Given the description of an element on the screen output the (x, y) to click on. 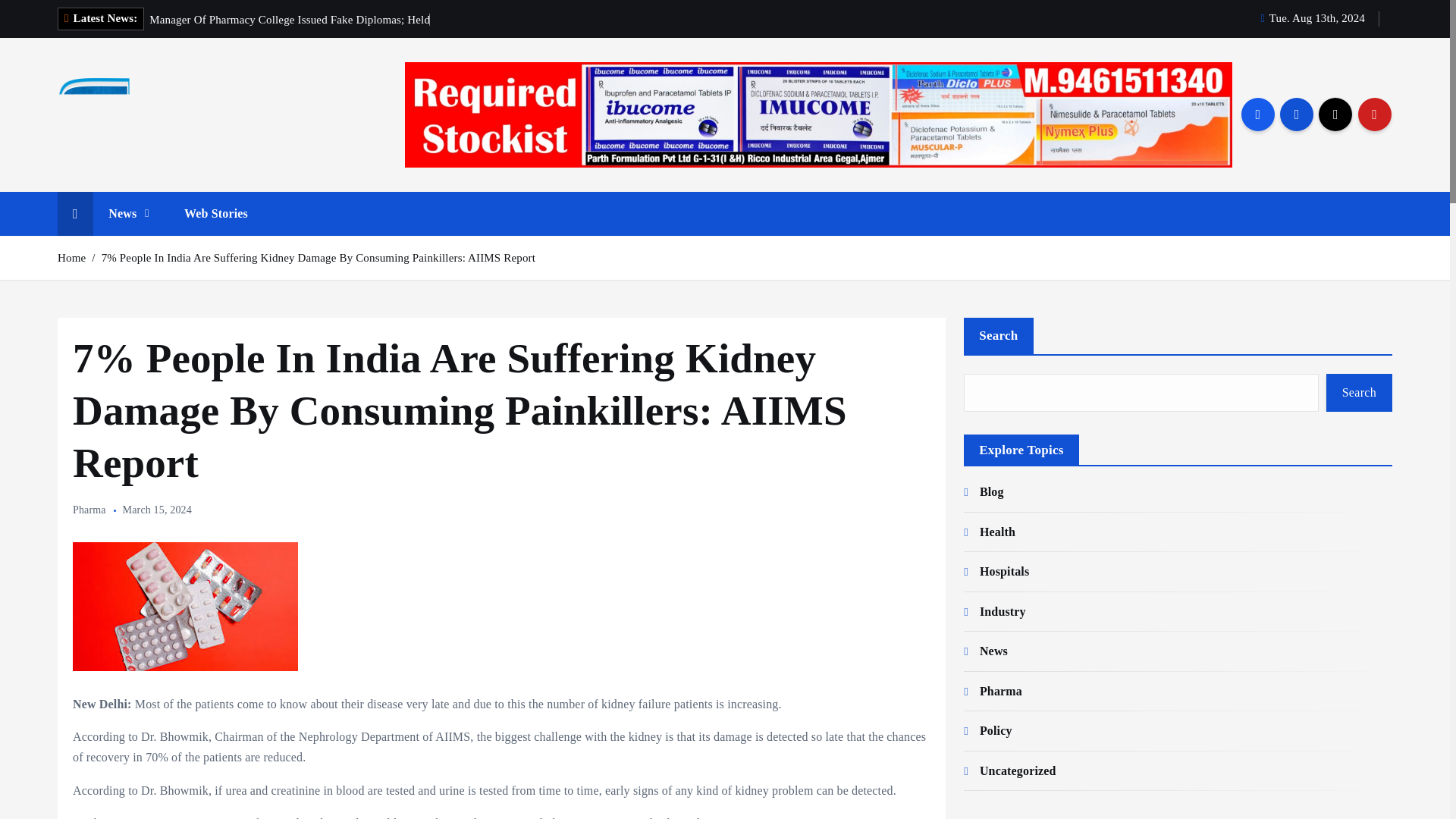
News (128, 213)
Web Stories (215, 213)
Web Stories (215, 213)
News (128, 213)
